Given the description of an element on the screen output the (x, y) to click on. 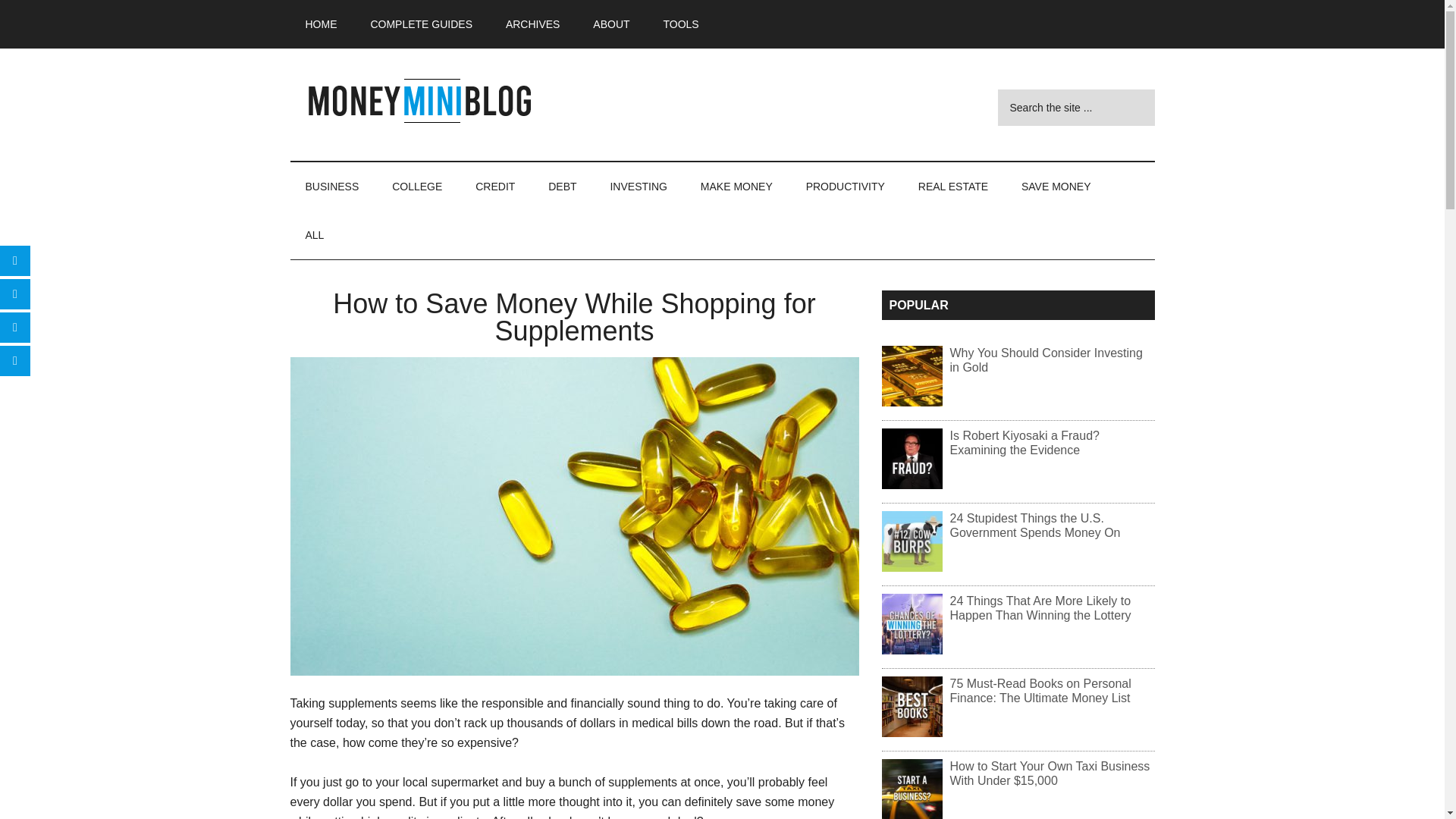
BUSINESS (331, 186)
REAL ESTATE (952, 186)
MAKE MONEY (736, 186)
COMPLETE GUIDES (421, 24)
ALL (314, 234)
PRODUCTIVITY (844, 186)
HOME (320, 24)
ARCHIVES (532, 24)
DEBT (561, 186)
SAVE MONEY (1056, 186)
